Given the description of an element on the screen output the (x, y) to click on. 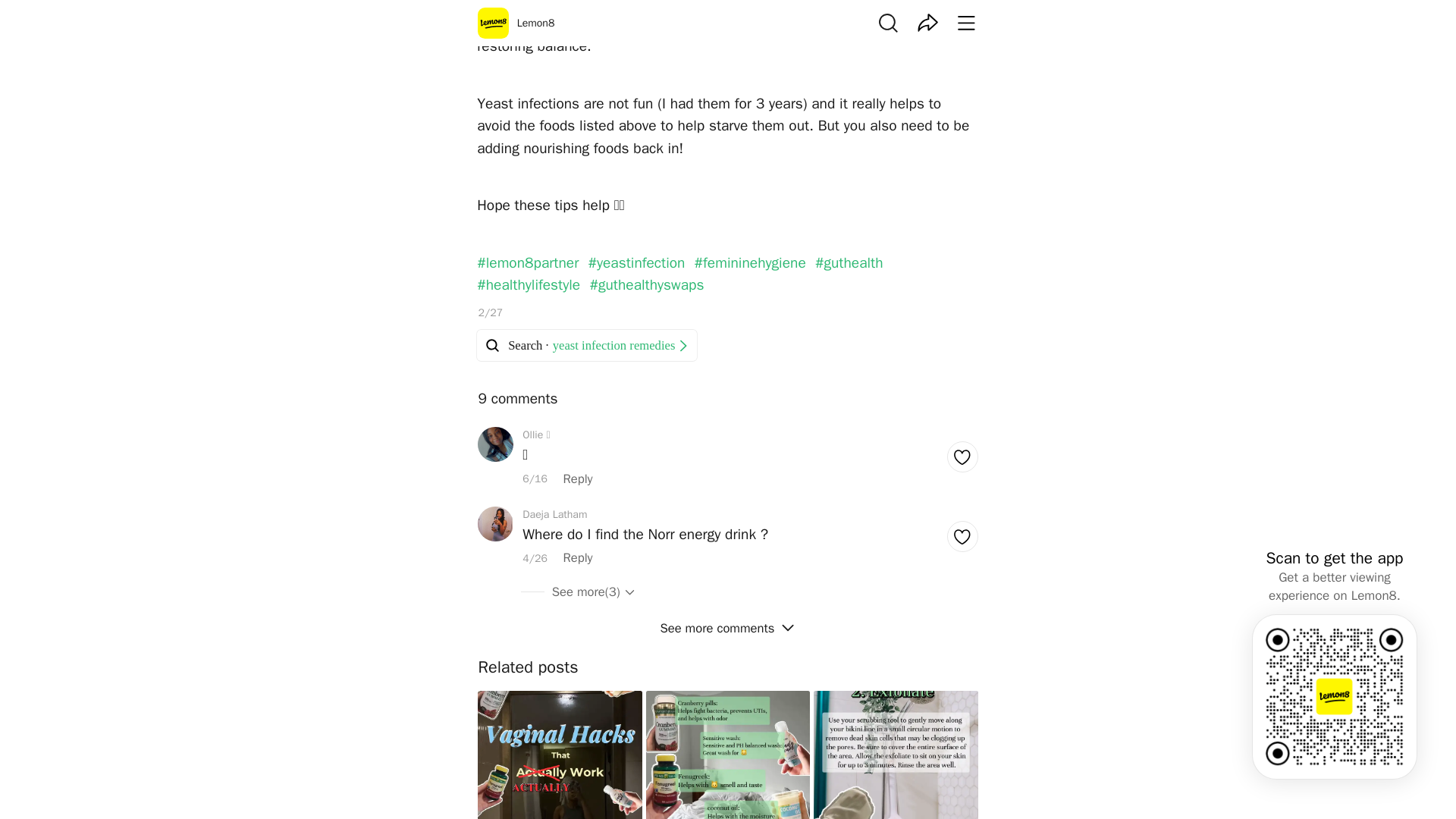
Daeja Latham (554, 513)
